Given the description of an element on the screen output the (x, y) to click on. 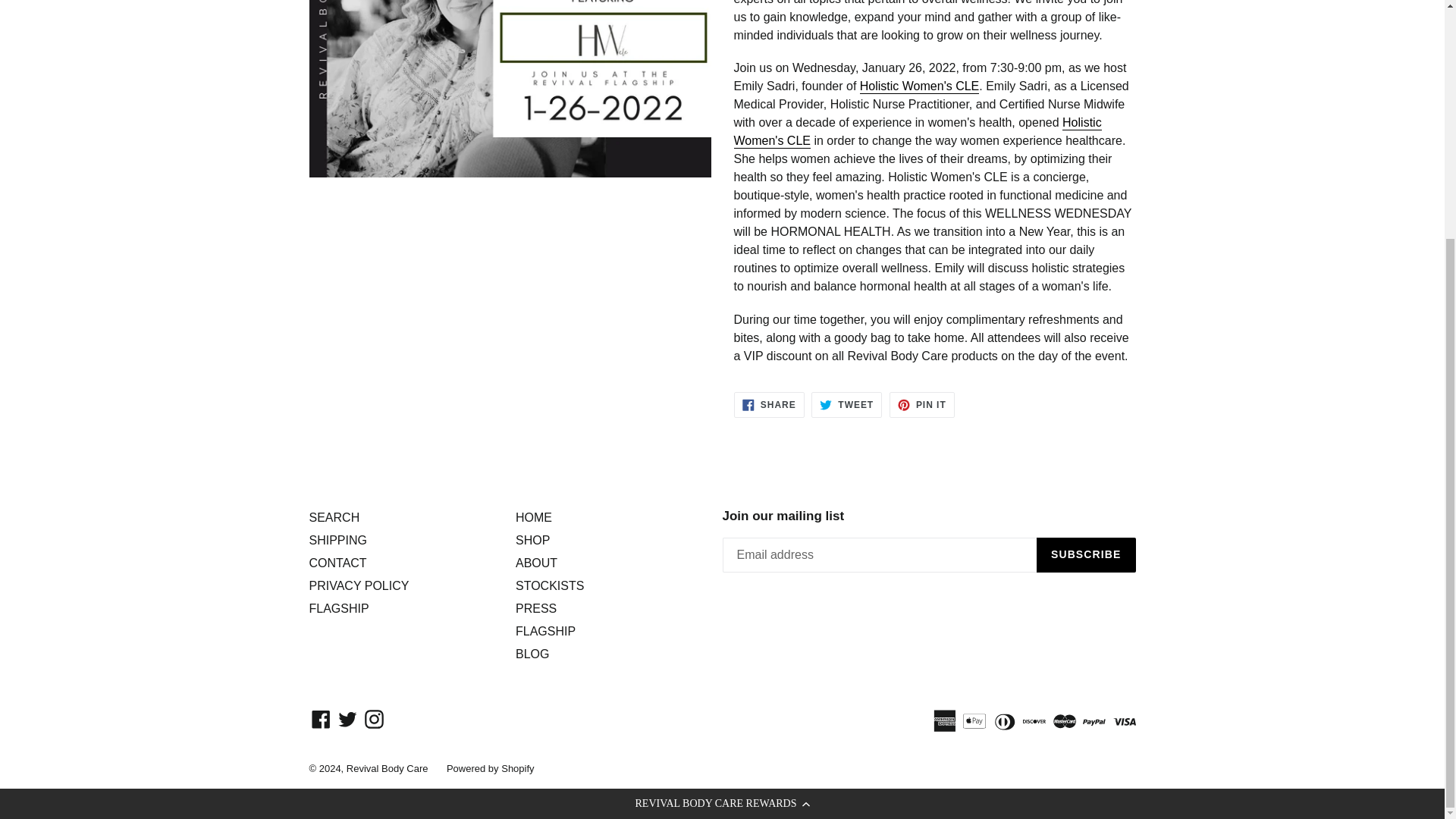
Share on Facebook (769, 404)
Holistic Women's CLE (917, 132)
Revival Body Care on Instagram (373, 719)
PRIVACY POLICY (846, 404)
Tweet on Twitter (769, 404)
CONTACT (358, 585)
SEARCH (846, 404)
